Given the description of an element on the screen output the (x, y) to click on. 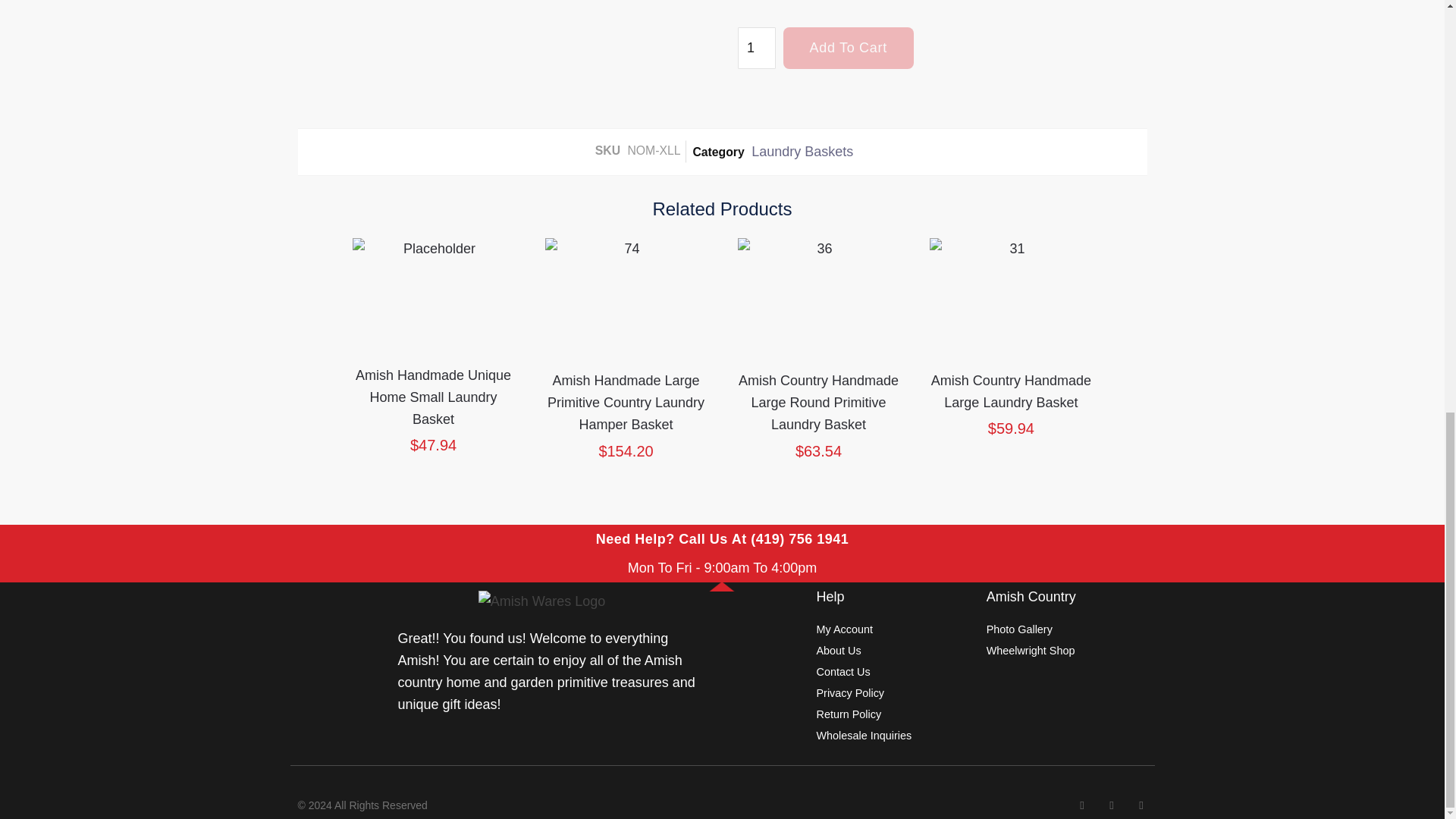
1 (755, 47)
Amish Country Handmade Large Round Primitive Laundry Basket (817, 295)
logo-amish-wares-white-t (542, 601)
Amish Handmade Unique Home Small Laundry Basket (433, 292)
Amish Country Handmade Large Laundry Basket (1011, 295)
Amish Handmade Large Primitive Country Laundry Hamper Basket (625, 295)
